Given the description of an element on the screen output the (x, y) to click on. 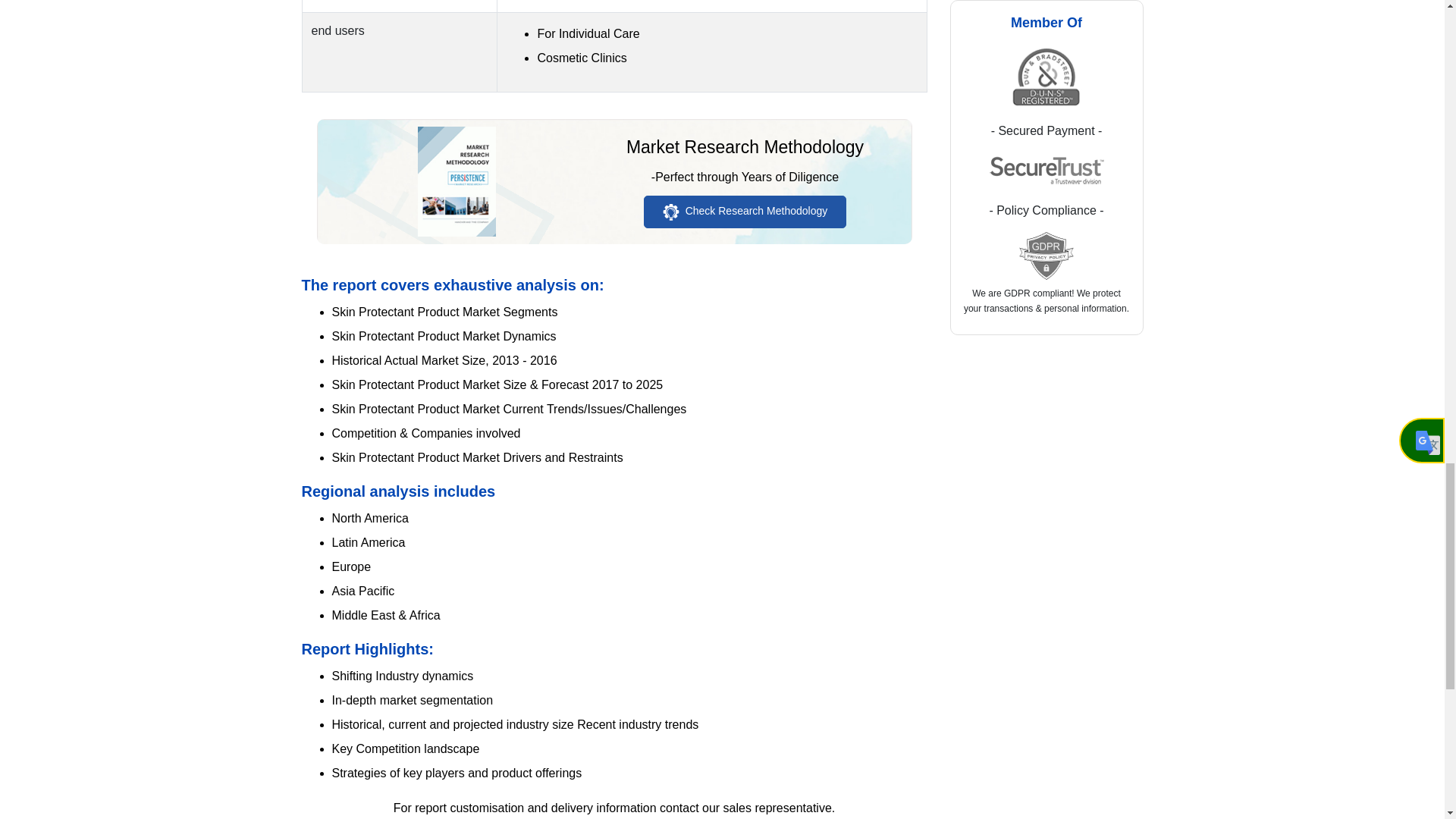
Check Research Methodology (744, 211)
